Given the description of an element on the screen output the (x, y) to click on. 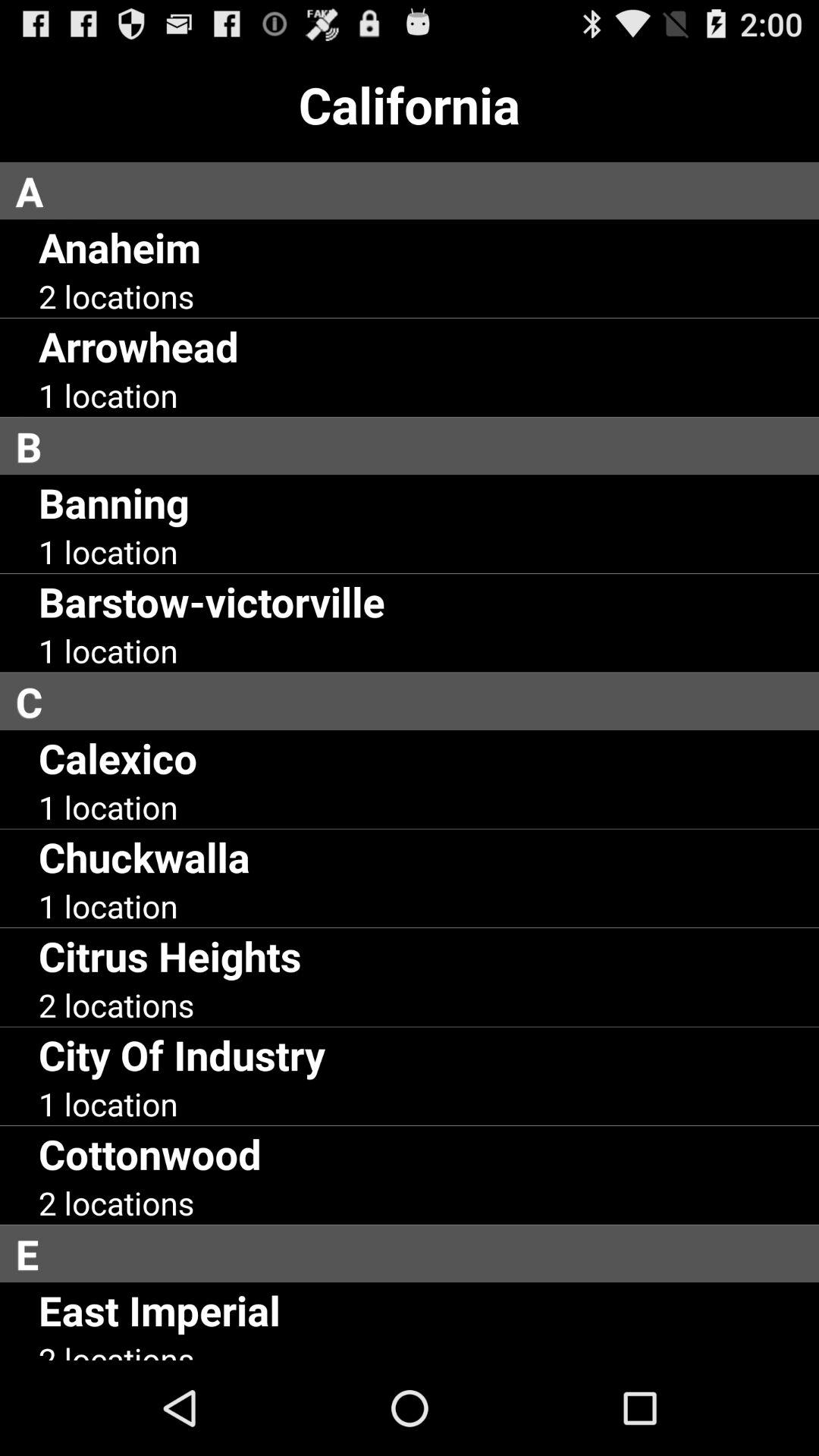
choose the citrus heights item (169, 955)
